Given the description of an element on the screen output the (x, y) to click on. 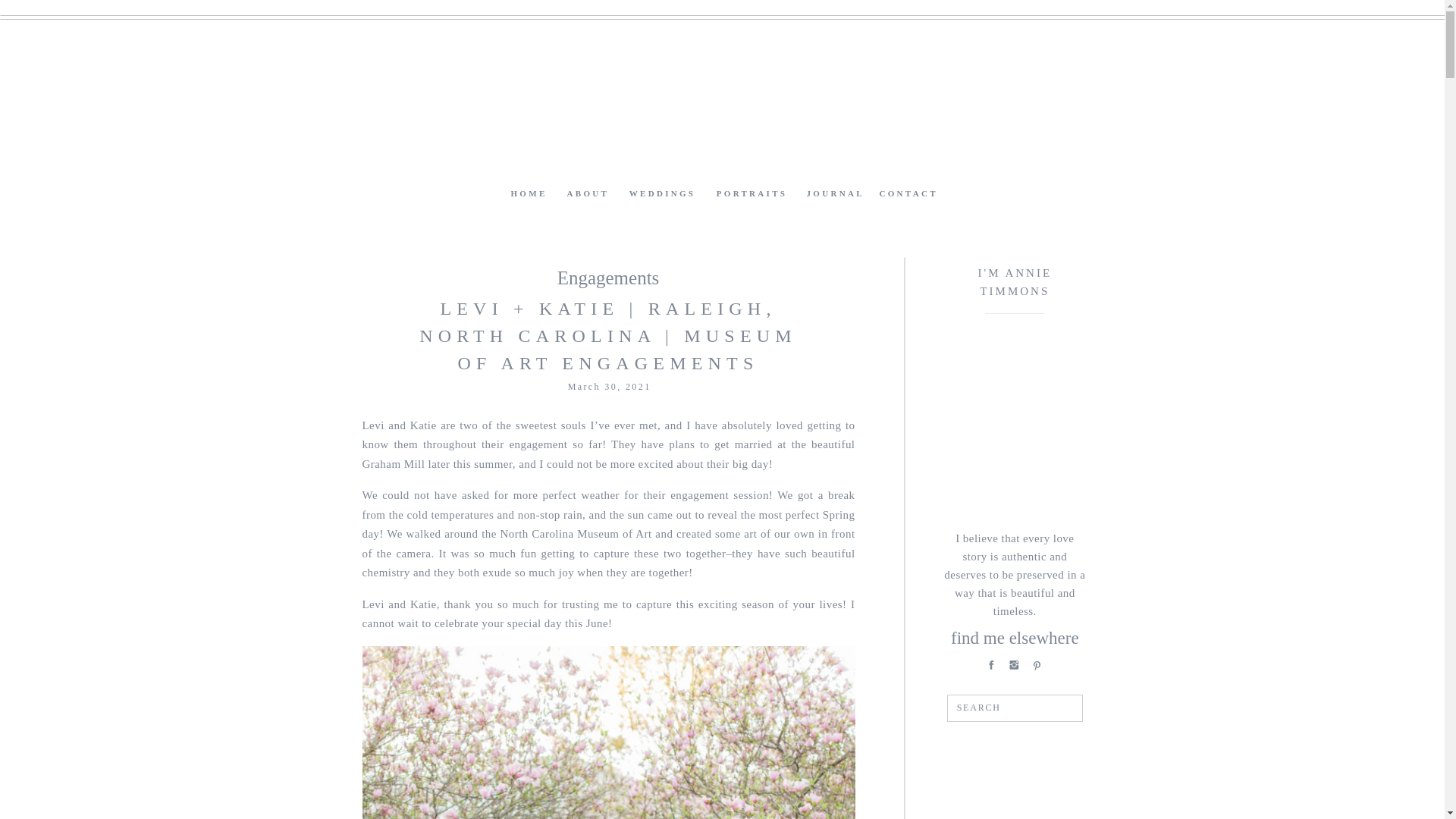
HOME (527, 192)
SEARCH (1016, 708)
Engagements (608, 277)
CONTACT (895, 192)
PORTRAITS (752, 192)
JOURNAL (833, 192)
WEDDINGS (661, 192)
ABOUT (587, 192)
